Given the description of an element on the screen output the (x, y) to click on. 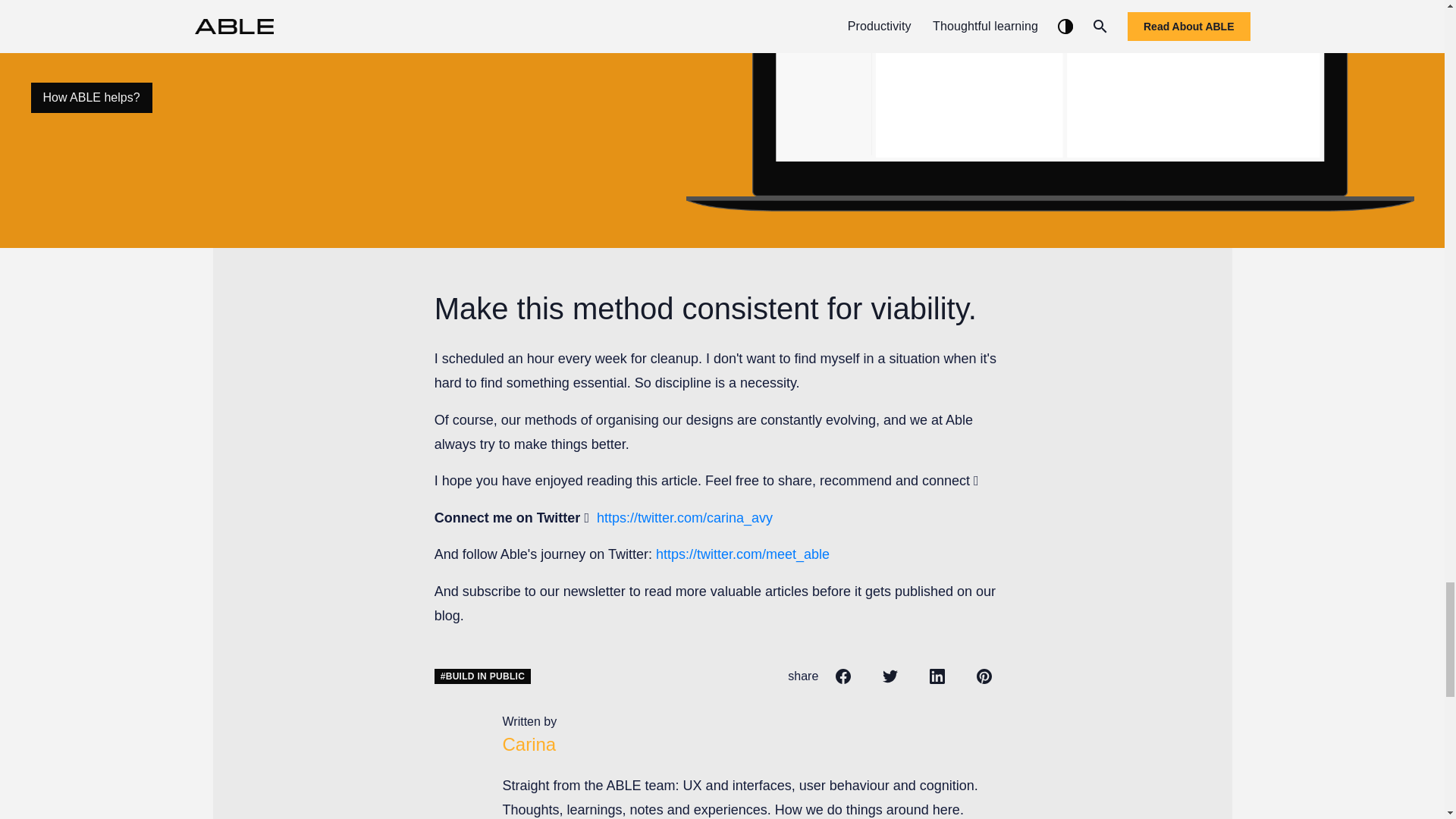
How ABLE helps? (90, 97)
Carina (529, 743)
Carina (529, 743)
